Given the description of an element on the screen output the (x, y) to click on. 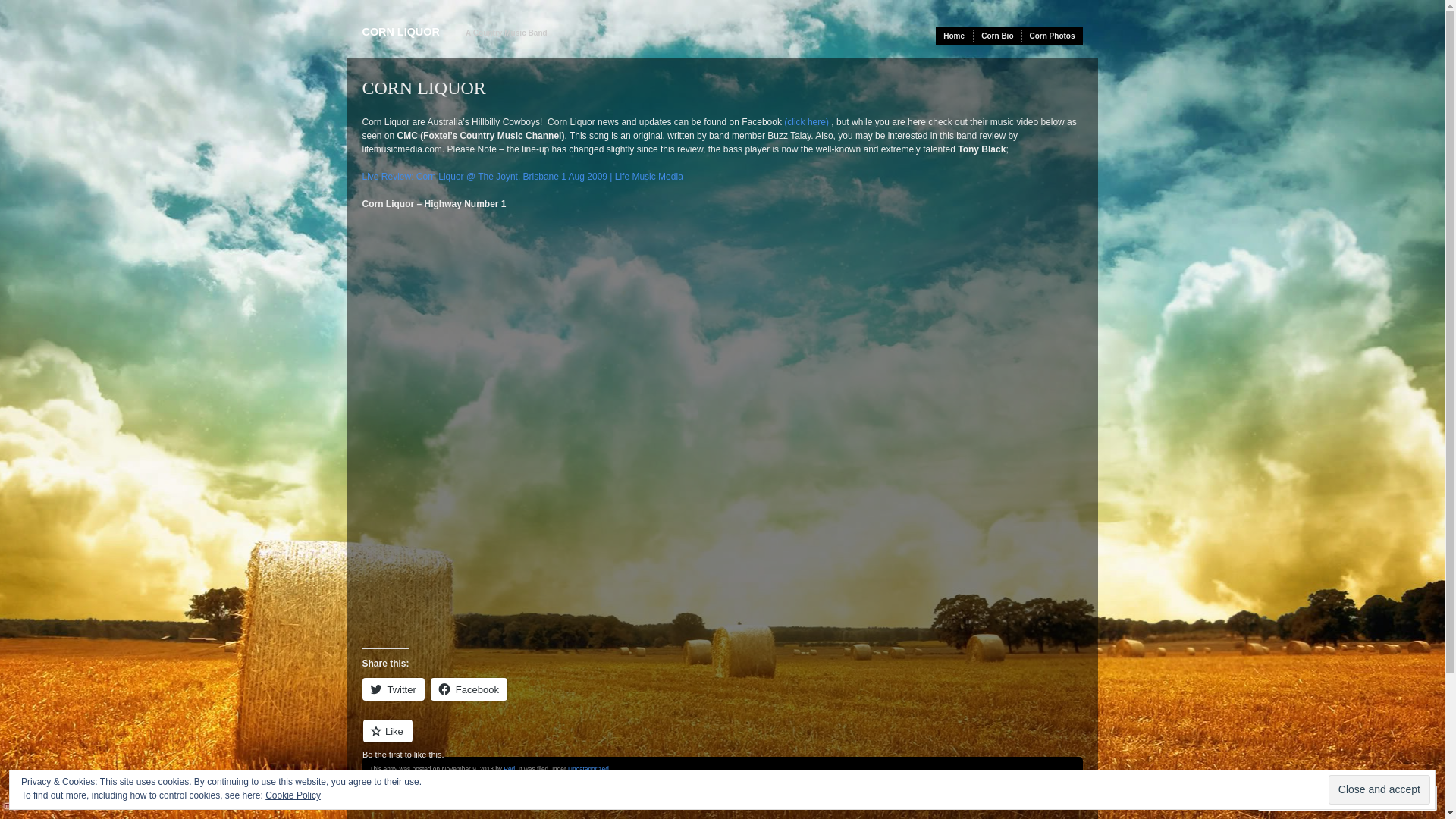
Follow Element type: text (1374, 797)
Home Element type: text (954, 35)
Twitter Element type: text (393, 688)
Facebook Element type: text (468, 688)
Close and accept Element type: text (1379, 789)
Comment Element type: text (1299, 797)
CORN LIQUOR Element type: text (400, 31)
Cookie Policy Element type: text (292, 795)
Corn Photos Element type: text (1052, 35)
Corn Bio Element type: text (997, 35)
Ped Element type: text (508, 768)
(click here) Element type: text (806, 121)
Like or Reblog Element type: hover (722, 739)
Uncategorized Element type: text (587, 768)
